Given the description of an element on the screen output the (x, y) to click on. 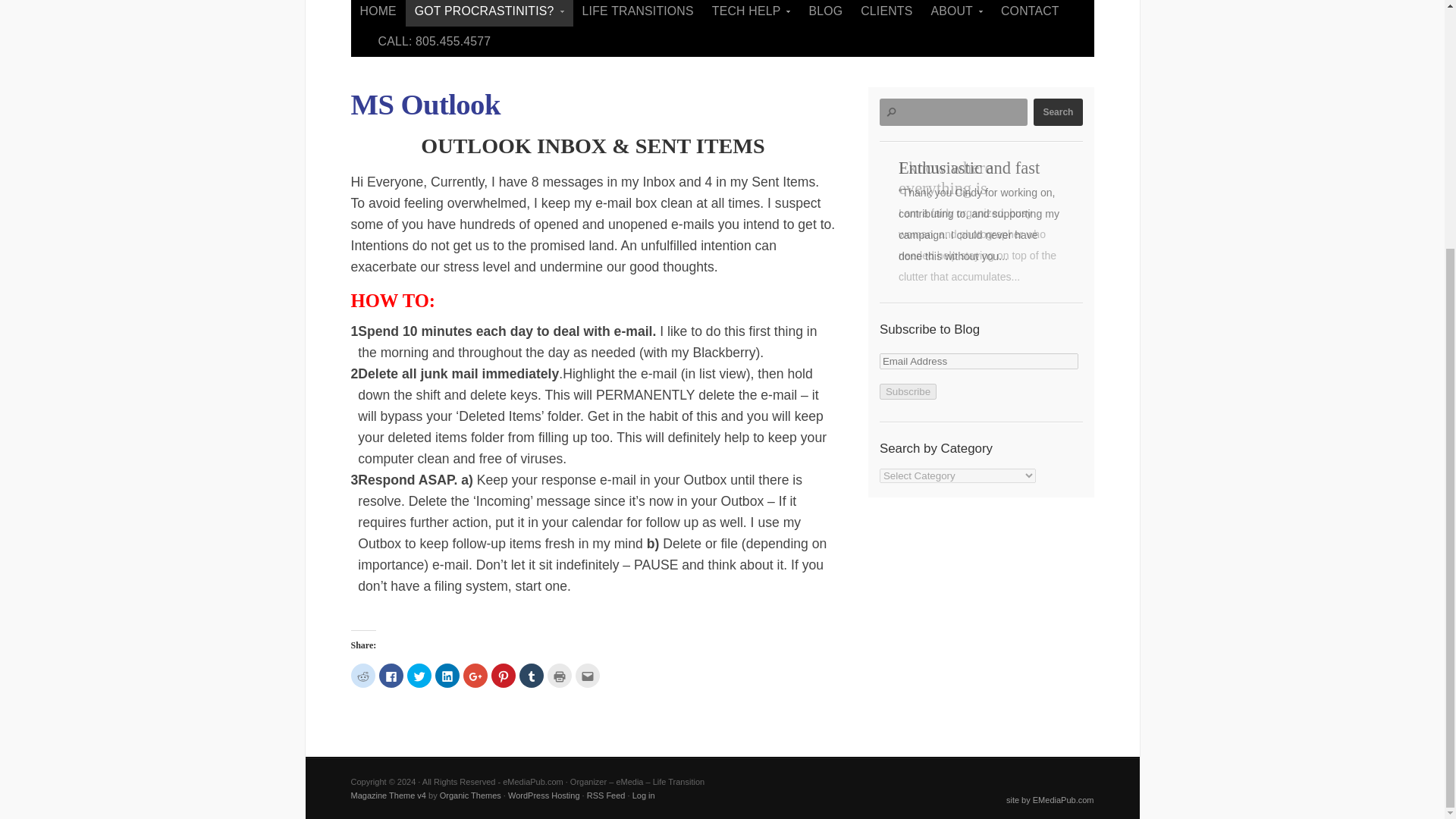
Click to share on Pinterest (503, 675)
CALL: 805.455.4577 (433, 41)
Who we are (956, 13)
eMediaPub.com (751, 13)
BLOG (825, 13)
What we do (489, 13)
Search (1057, 112)
Click to email this to a friend (586, 675)
CLIENTS (886, 13)
Click to share on LinkedIn (447, 675)
Click to print (559, 675)
HOME (377, 13)
LIFE TRANSITIONS (638, 13)
Click to share on Facebook (390, 675)
CONTACT (1029, 13)
